Given the description of an element on the screen output the (x, y) to click on. 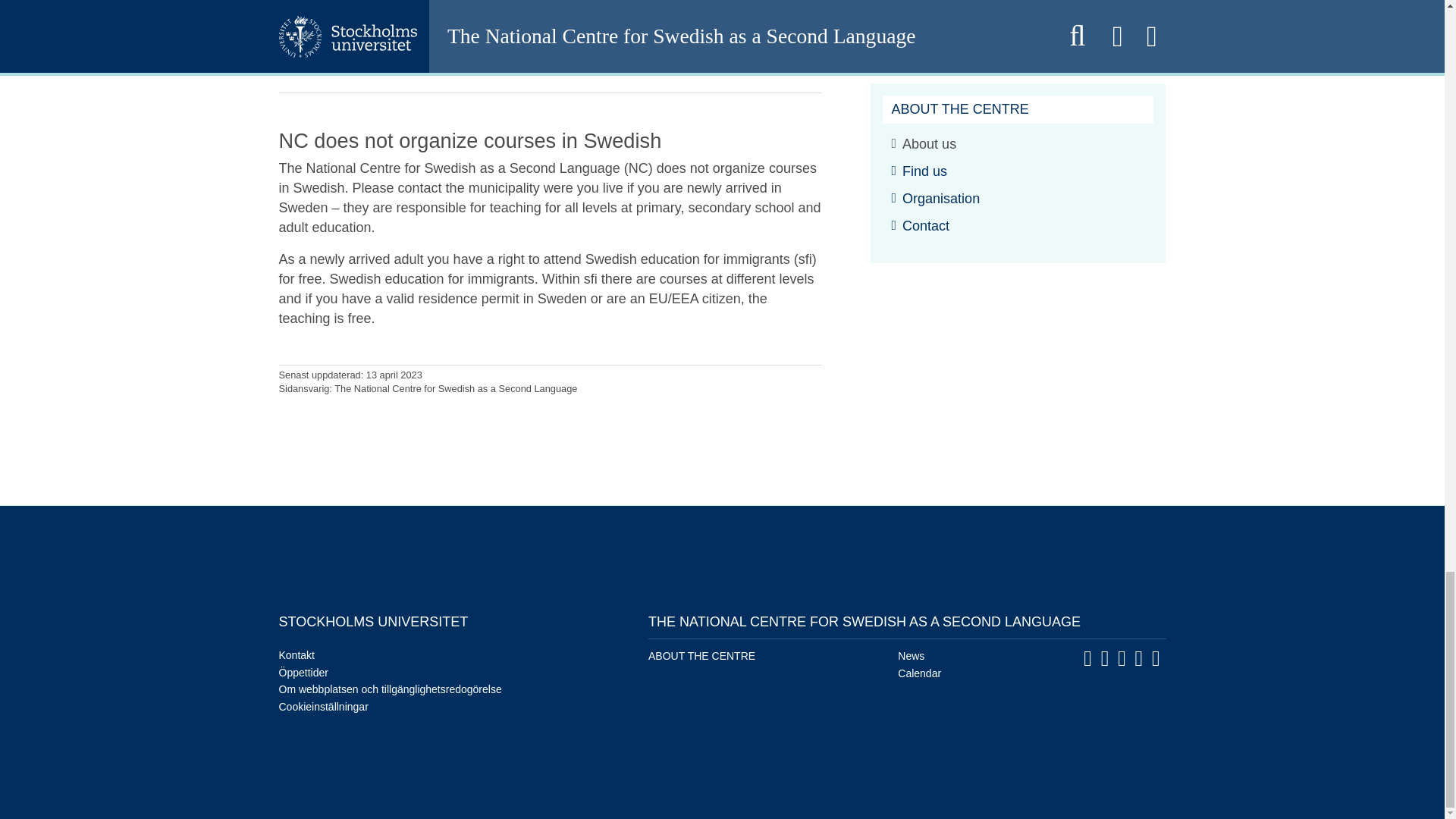
ABOUT THE CENTRE (701, 655)
News (911, 655)
Calendar (919, 673)
